Given the description of an element on the screen output the (x, y) to click on. 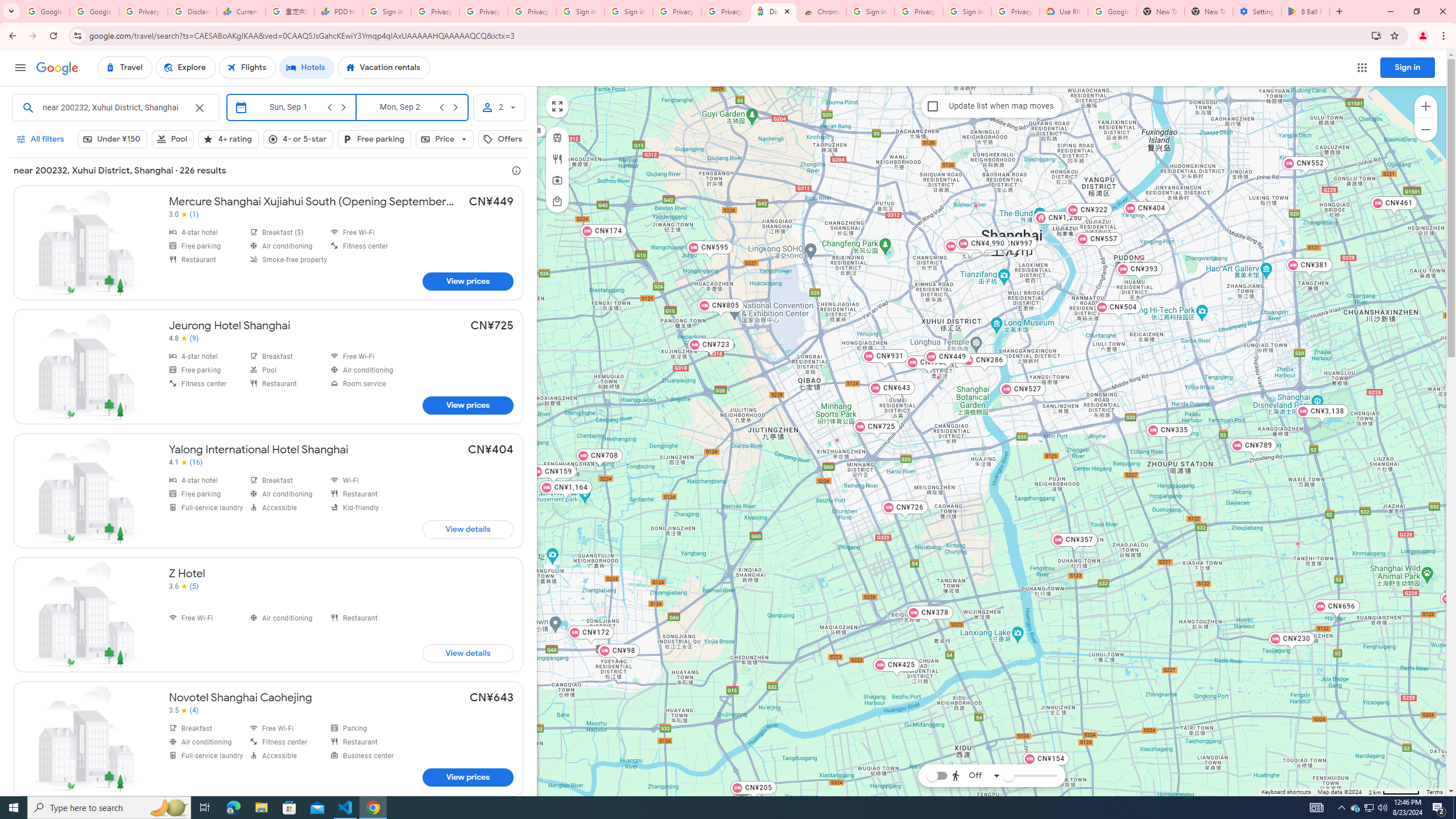
Check-out (399, 107)
Free parking, Amenities, Not selected (374, 139)
Flights (247, 67)
Z Hotel (1024, 239)
Zoom out map (1425, 128)
Junting Hotel (938, 377)
